Given the description of an element on the screen output the (x, y) to click on. 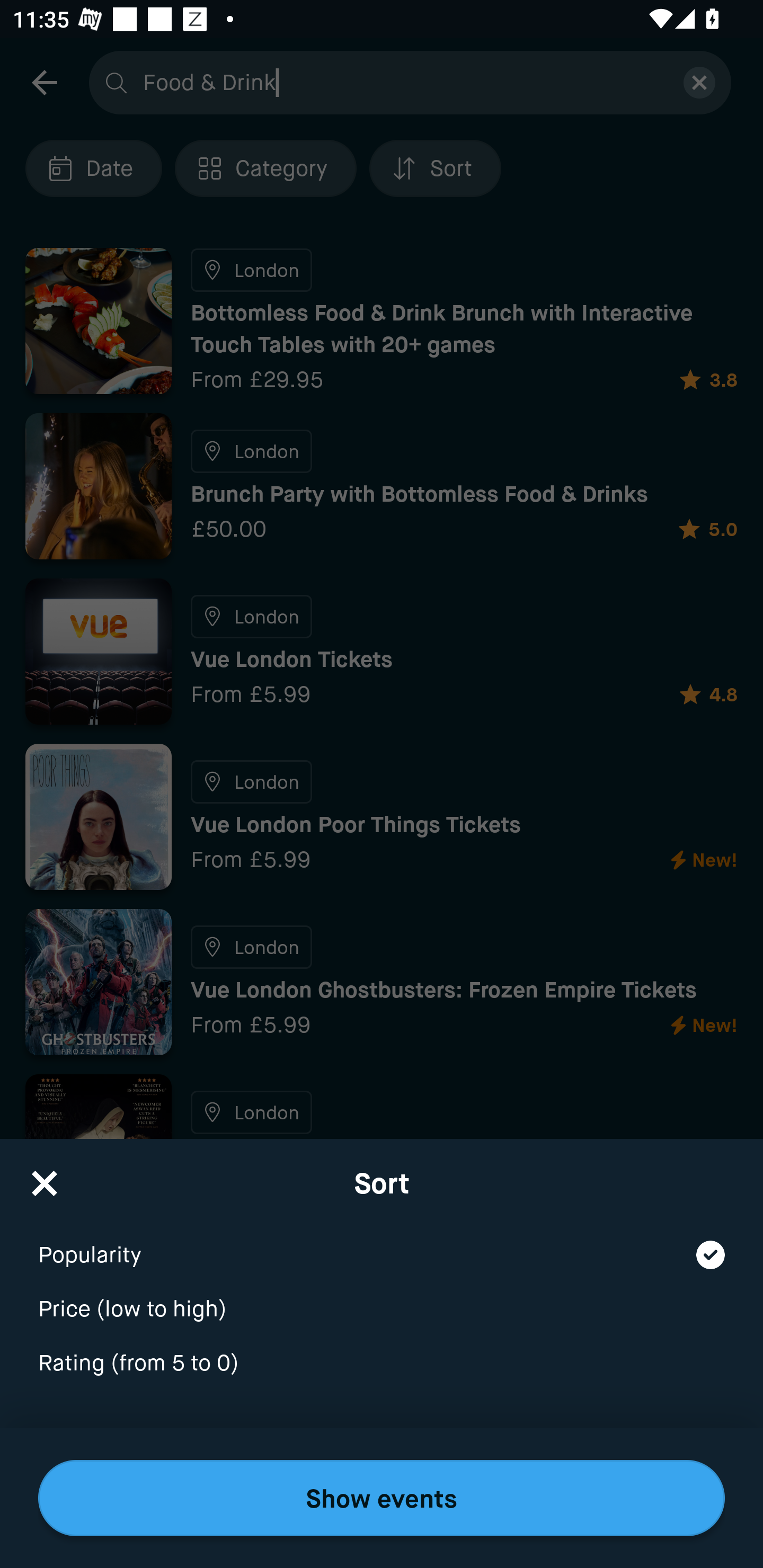
CloseButton (44, 1177)
Popularity Selected Icon (381, 1243)
Price (low to high) (381, 1297)
Rating (from 5 to 0) (381, 1362)
Show events (381, 1497)
